Given the description of an element on the screen output the (x, y) to click on. 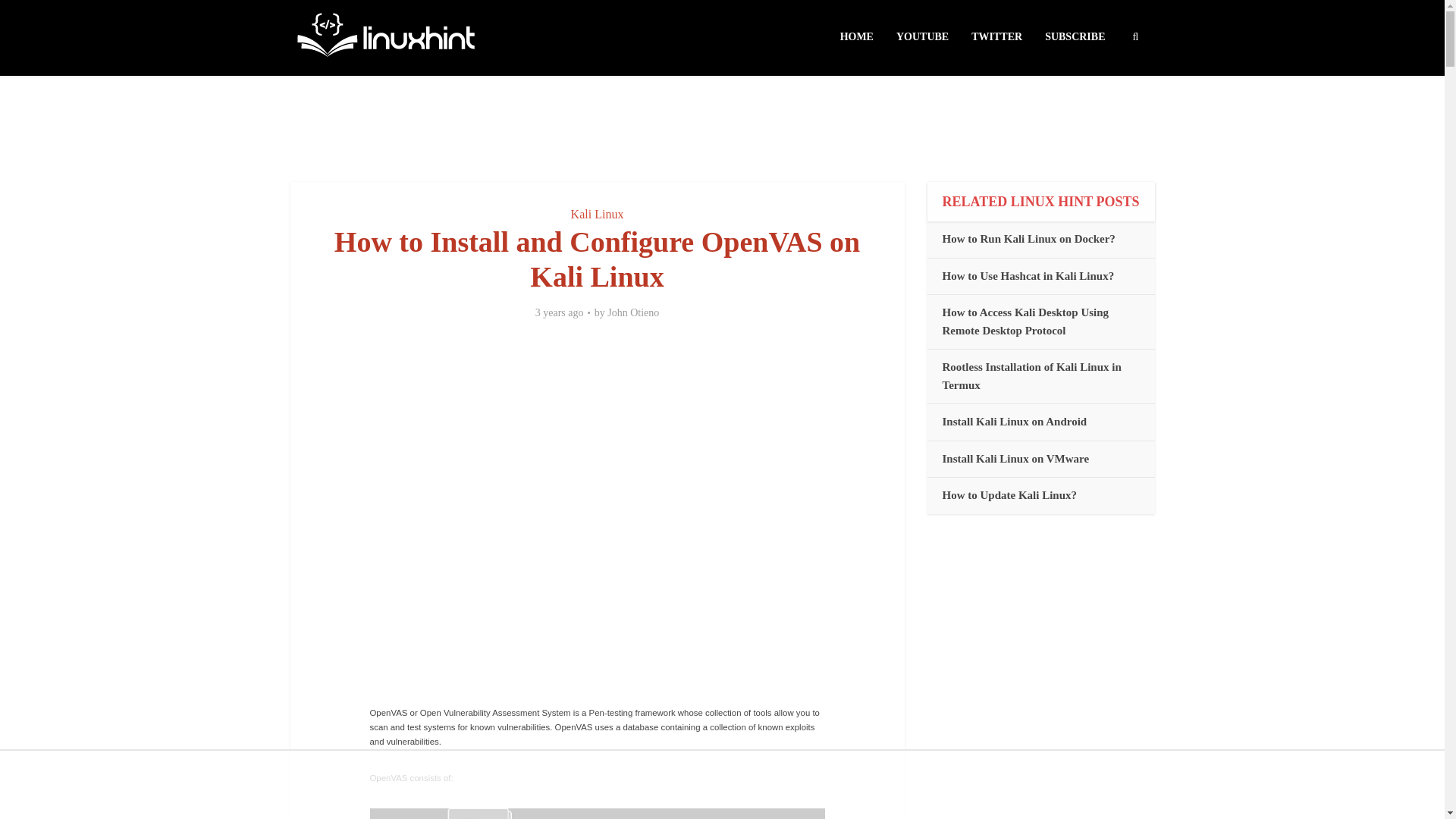
Install Kali Linux on Android (1014, 421)
SUBSCRIBE (1074, 37)
Rootless Installation of Kali Linux in Termux (1031, 376)
YOUTUBE (922, 37)
Install Kali Linux on VMware (1015, 458)
Rootless Installation of Kali Linux in Termux (1031, 376)
Install Kali Linux on Android (1014, 421)
How to Run Kali Linux on Docker? (1028, 238)
How to Access Kali Desktop Using Remote Desktop Protocol (1025, 321)
How to Use Hashcat in Kali Linux? (1027, 275)
How to Use Hashcat in Kali Linux? (1027, 275)
How to Update Kali Linux? (1009, 494)
TWITTER (996, 37)
Install Kali Linux on VMware (1015, 458)
